Given the description of an element on the screen output the (x, y) to click on. 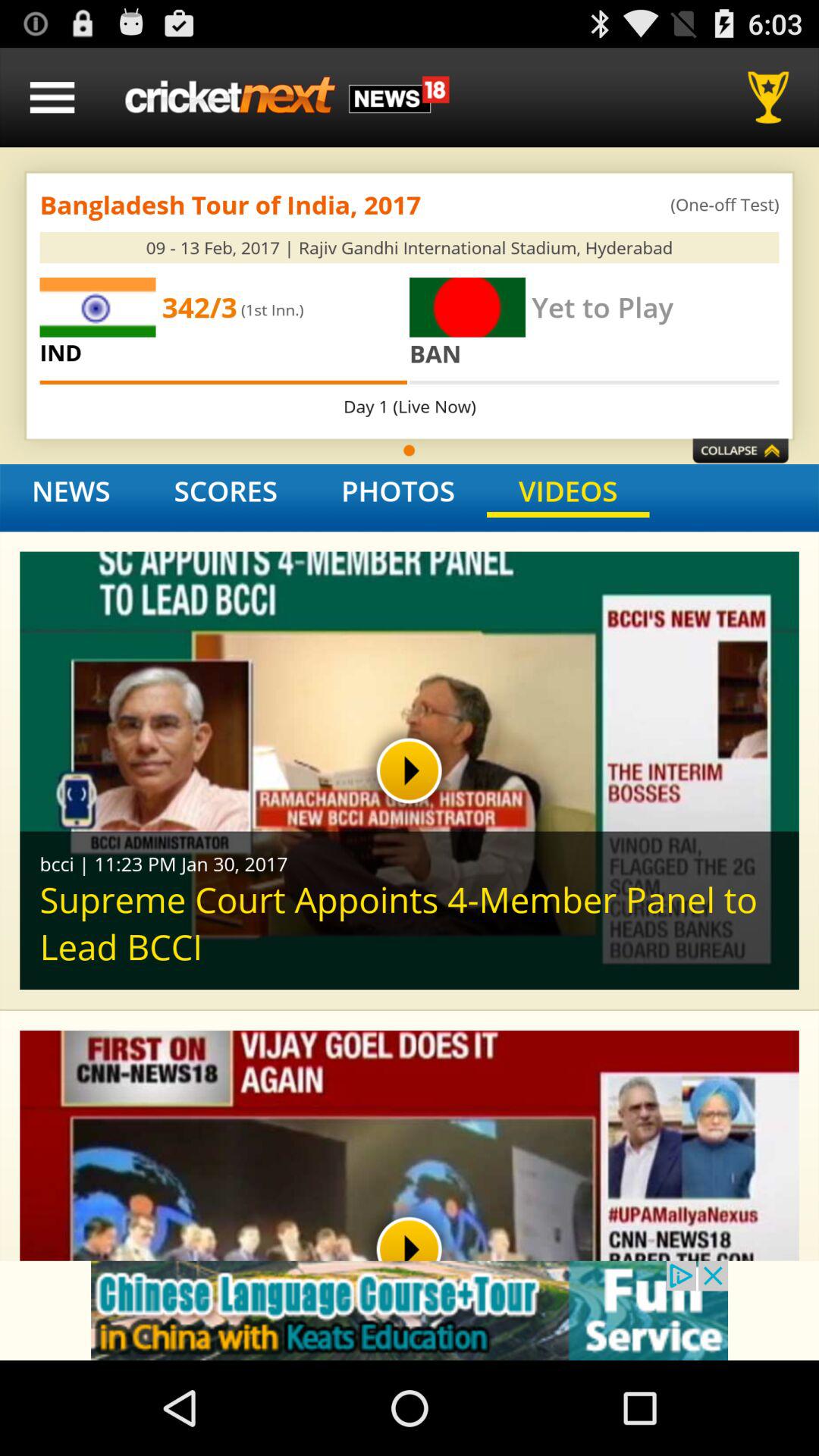
show settings menu (52, 97)
